Given the description of an element on the screen output the (x, y) to click on. 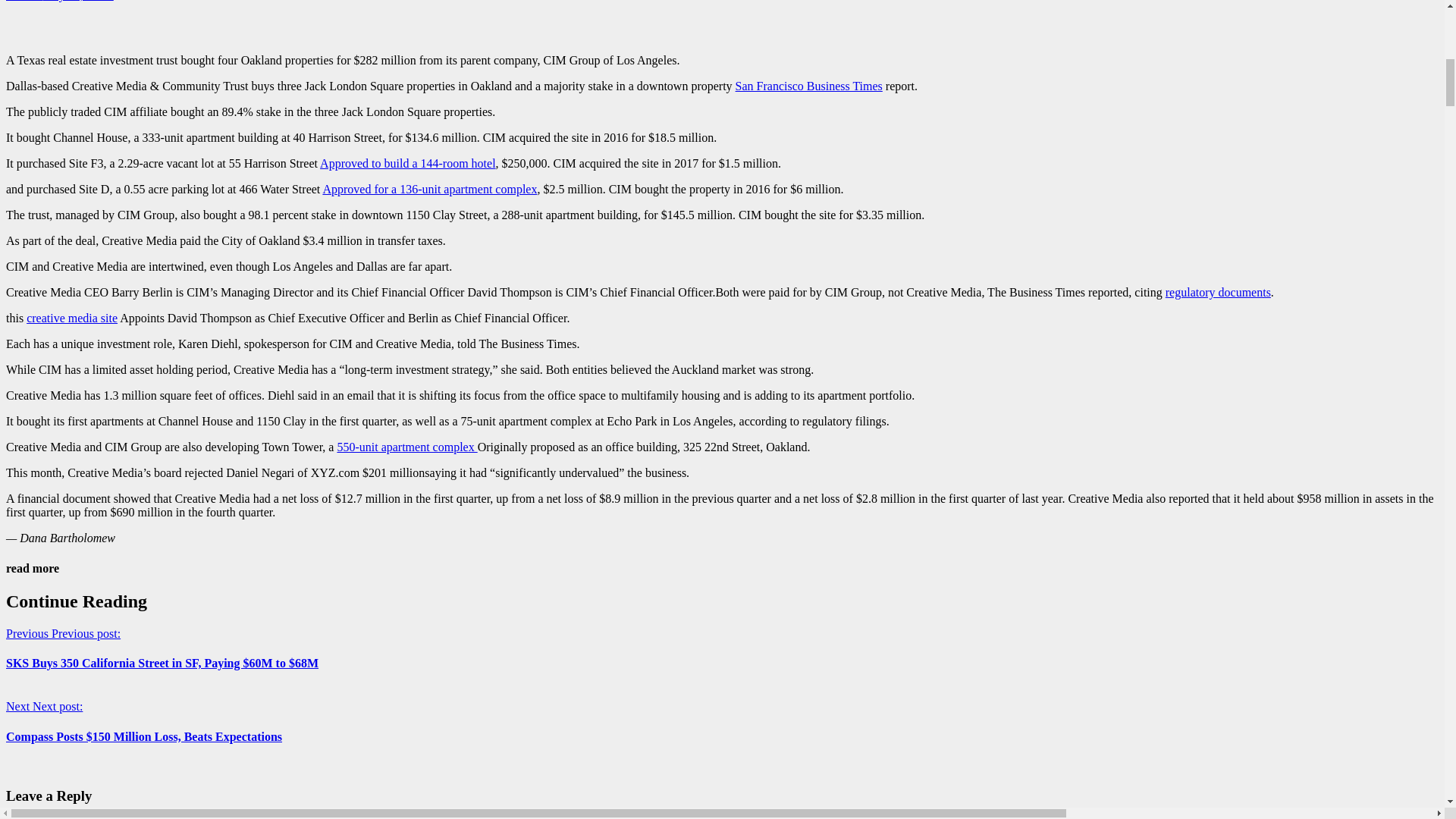
Approved to build a 144-room hotel (408, 163)
550-unit apartment complex (406, 446)
creative media site (71, 318)
San Francisco Business Times (808, 85)
regulatory documents (1218, 291)
May 10, 2023 (77, 0)
Admin (23, 0)
Approved for a 136-unit apartment complex (429, 188)
